Given the description of an element on the screen output the (x, y) to click on. 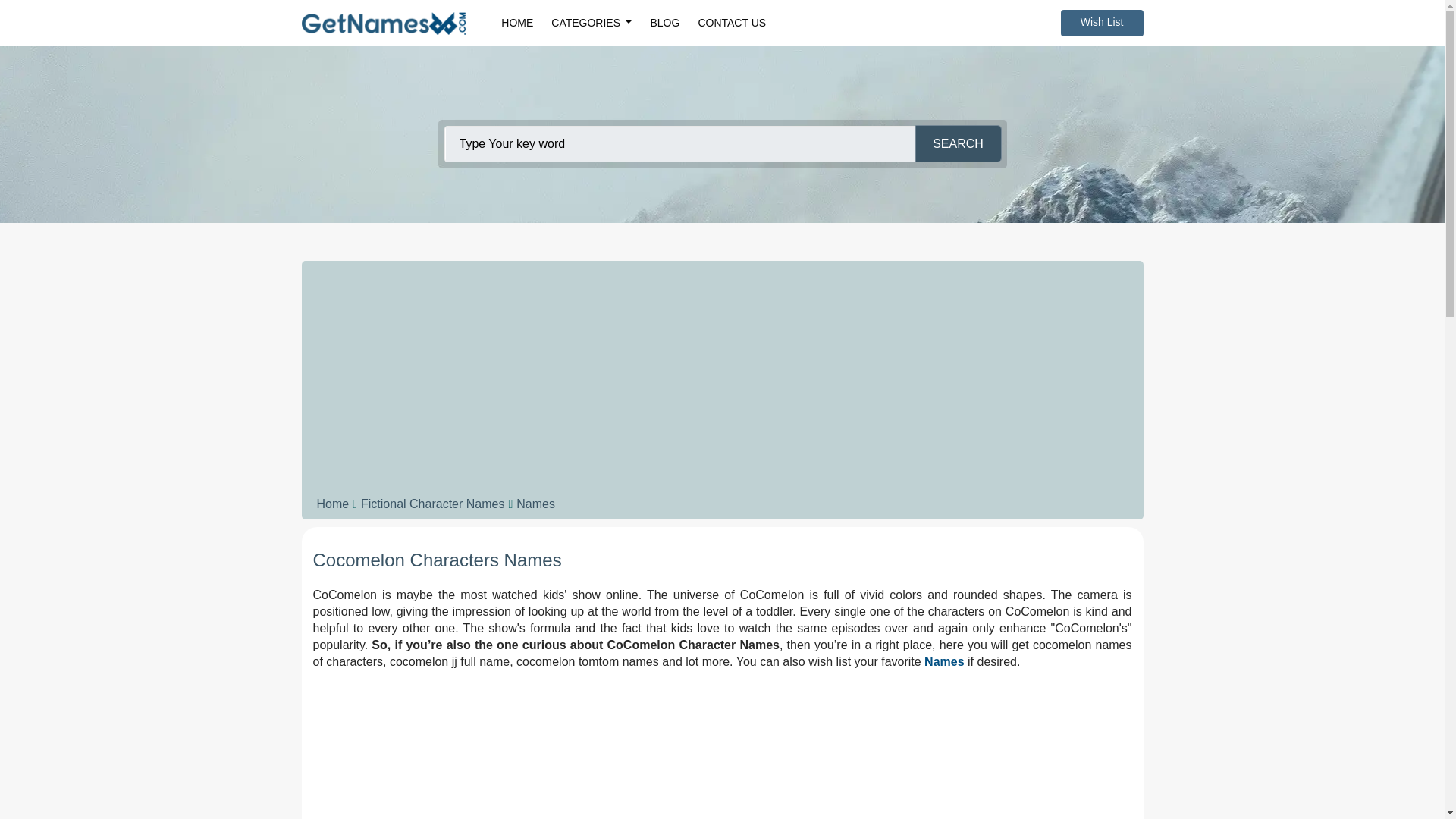
CATEGORIES (590, 23)
HOME (516, 23)
Advertisement (722, 750)
